Given the description of an element on the screen output the (x, y) to click on. 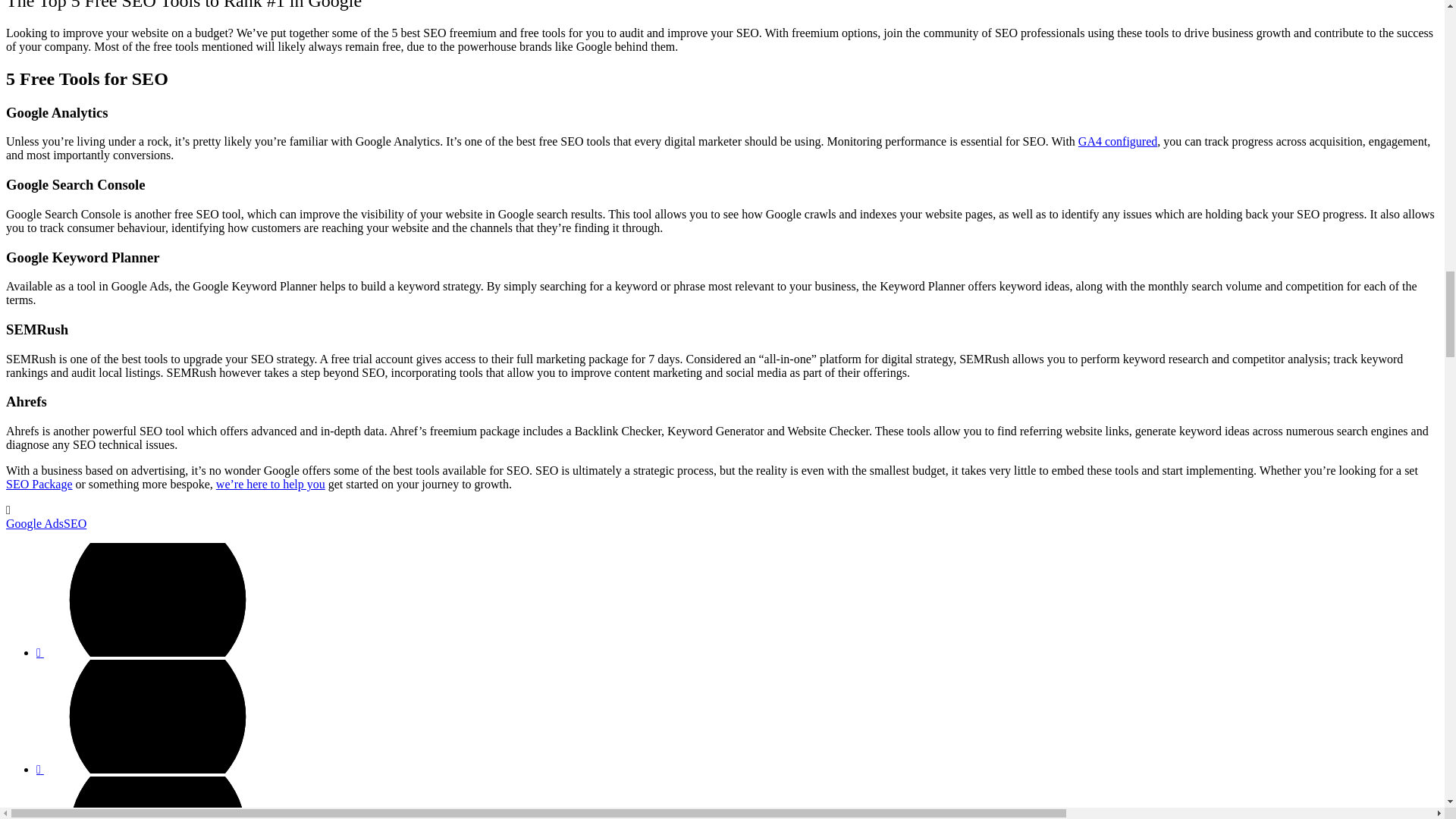
GA4 configured (1117, 141)
